Given the description of an element on the screen output the (x, y) to click on. 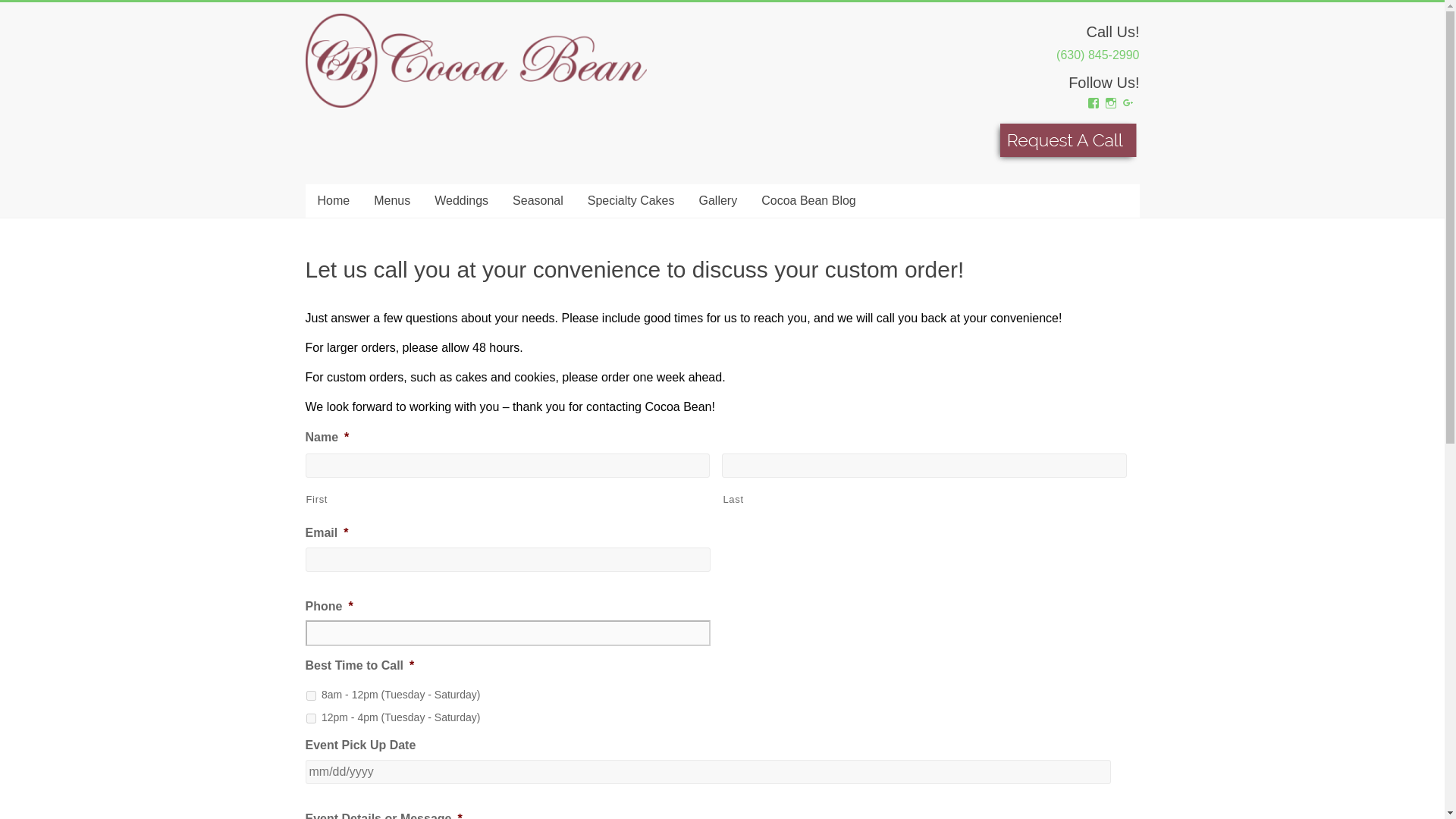
Cocoa Bean Geneva (352, 62)
Specialty Cakes (631, 200)
Cocoa Bean Blog (808, 200)
Cocoa Bean Geneva (352, 62)
Instagram (1109, 102)
Seasonal (537, 200)
Gallery (718, 200)
Facebook (1093, 102)
Home (332, 200)
Menus (391, 200)
